Given the description of an element on the screen output the (x, y) to click on. 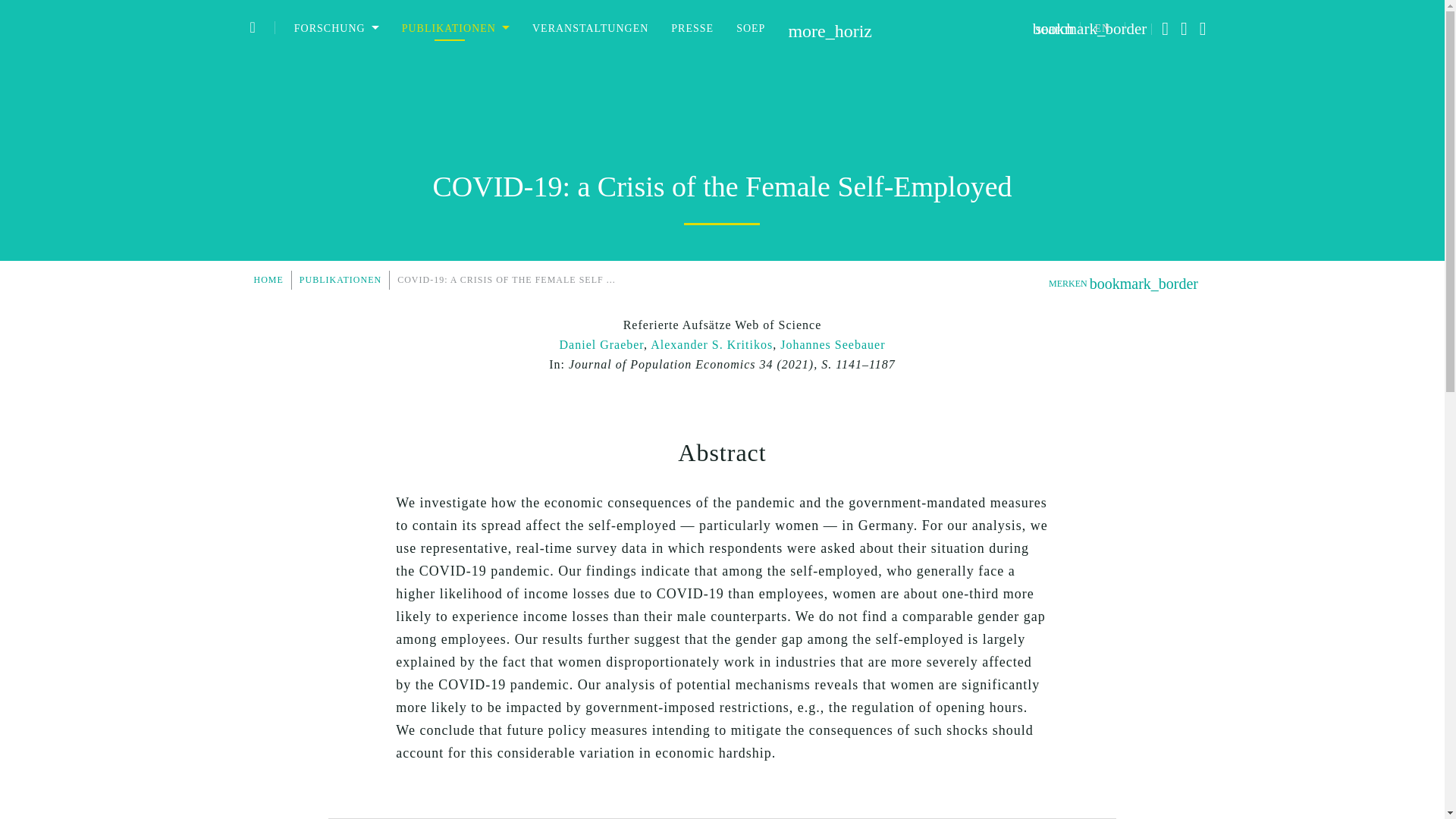
katkey (721, 324)
FORSCHUNG (336, 27)
NO english version of this page available (1102, 29)
PUBLIKATIONEN (455, 27)
SOEP (750, 27)
PRESSE (692, 27)
VERANSTALTUNGEN (589, 27)
